Given the description of an element on the screen output the (x, y) to click on. 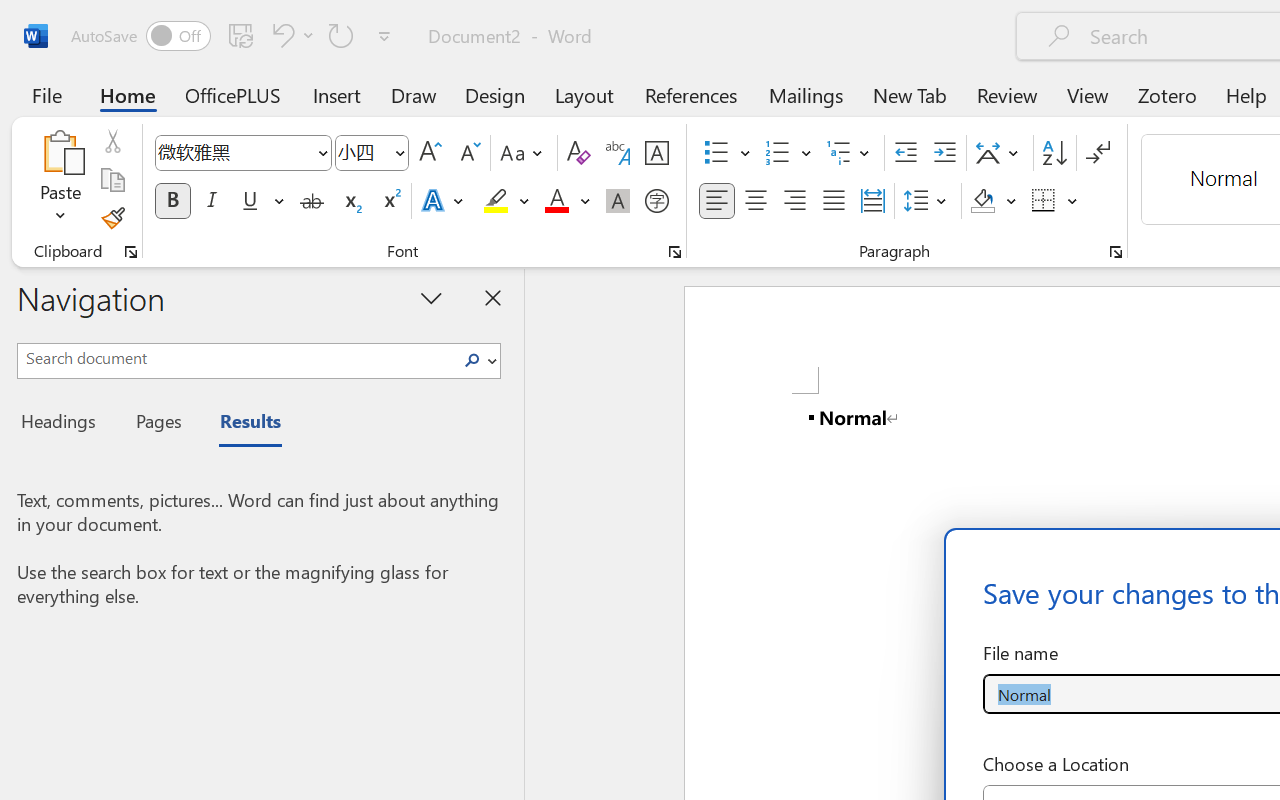
Line and Paragraph Spacing (927, 201)
Borders (1055, 201)
Format Painter (112, 218)
Insert (337, 94)
Text Highlight Color Yellow (495, 201)
Asian Layout (1000, 153)
Customize Quick Access Toolbar (384, 35)
Quick Access Toolbar (233, 36)
Font Size (372, 153)
Show/Hide Editing Marks (1098, 153)
Bullets (727, 153)
Underline (250, 201)
Bullets (716, 153)
